Given the description of an element on the screen output the (x, y) to click on. 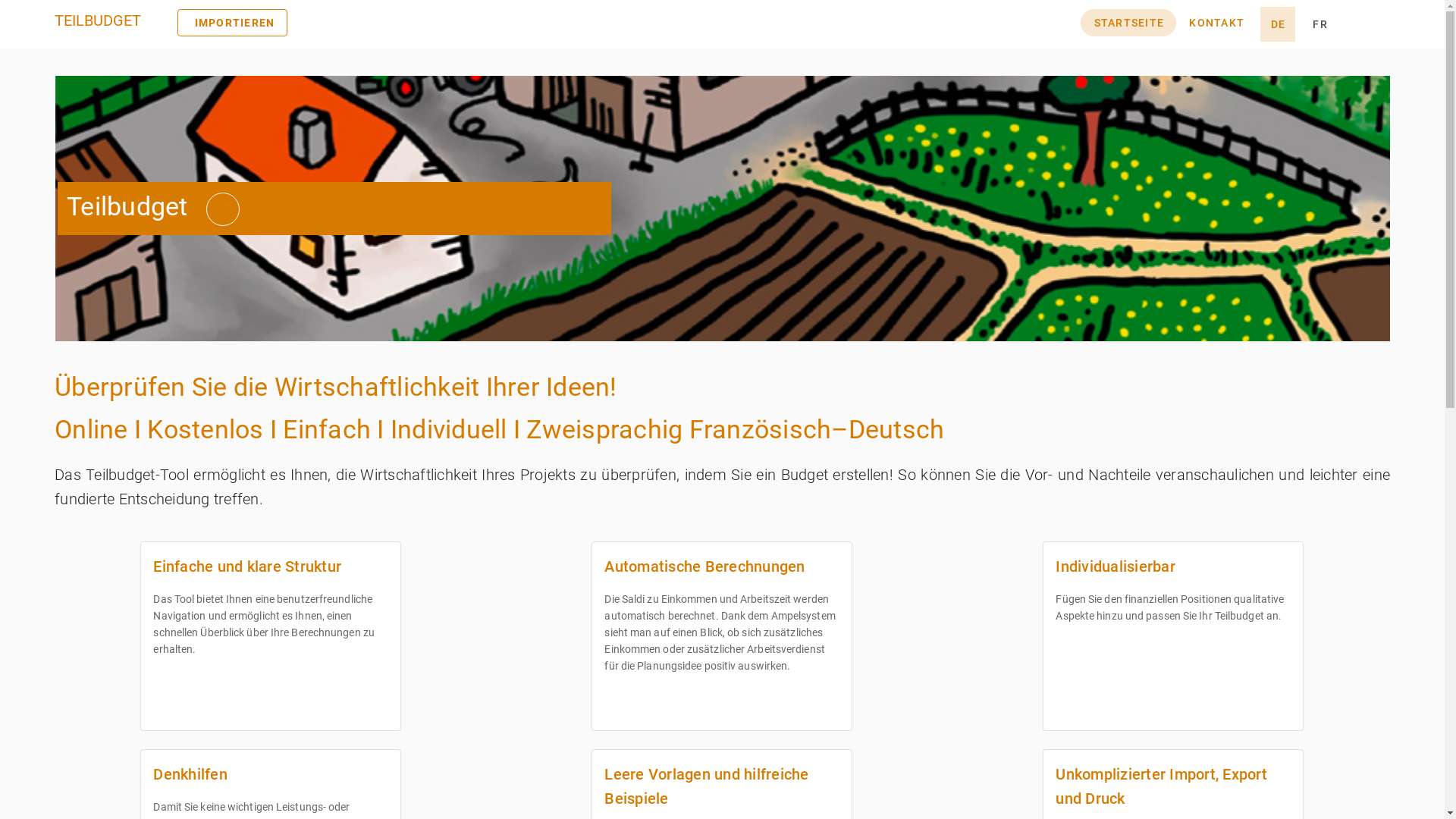
KONTAKT Element type: text (1216, 22)
STARTSEITE Element type: text (1128, 22)
IMPORTIEREN Element type: text (232, 22)
FR Element type: text (1320, 24)
DE Element type: text (1277, 24)
